Given the description of an element on the screen output the (x, y) to click on. 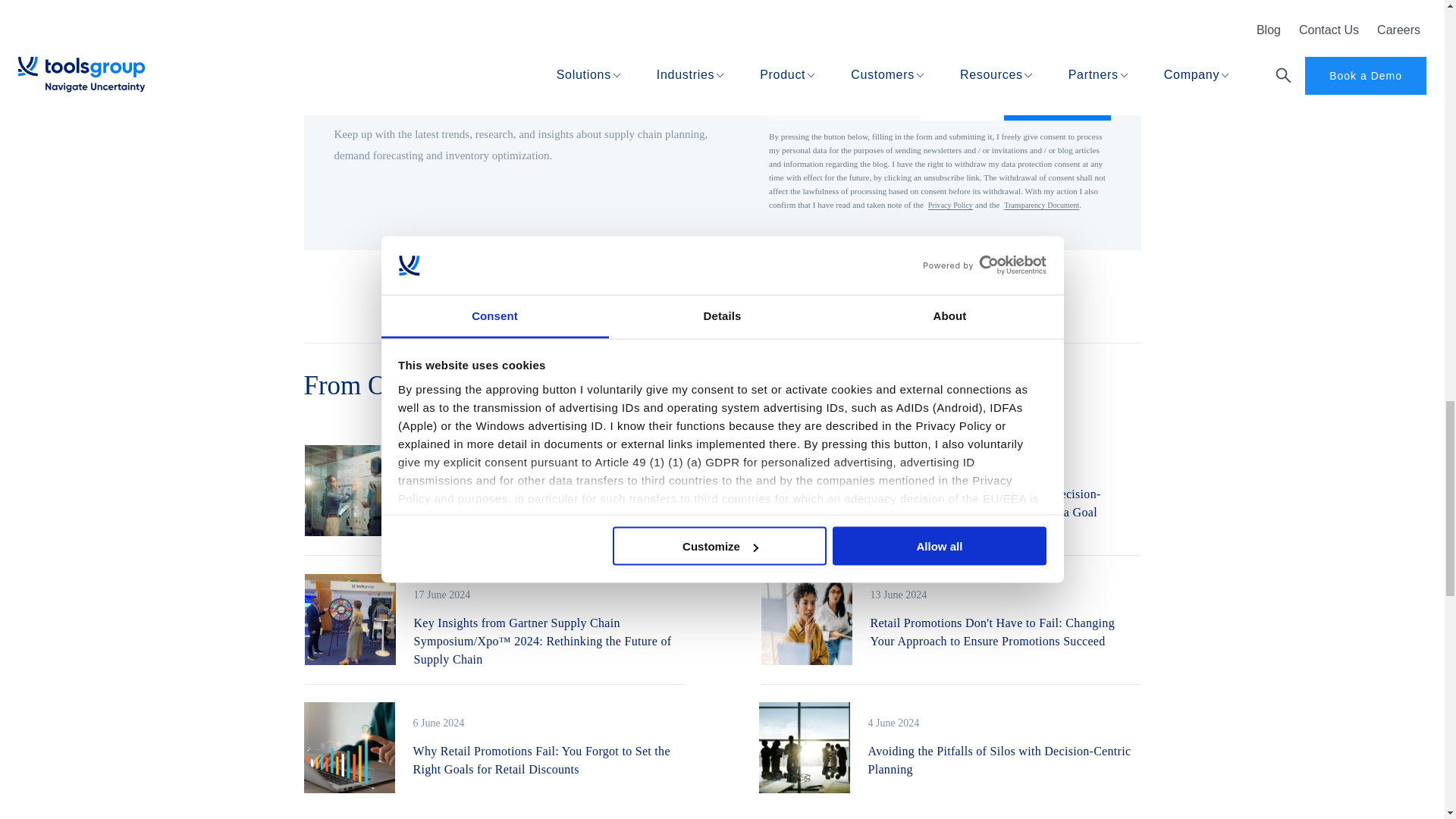
SUBSCRIBE (1056, 98)
